Given the description of an element on the screen output the (x, y) to click on. 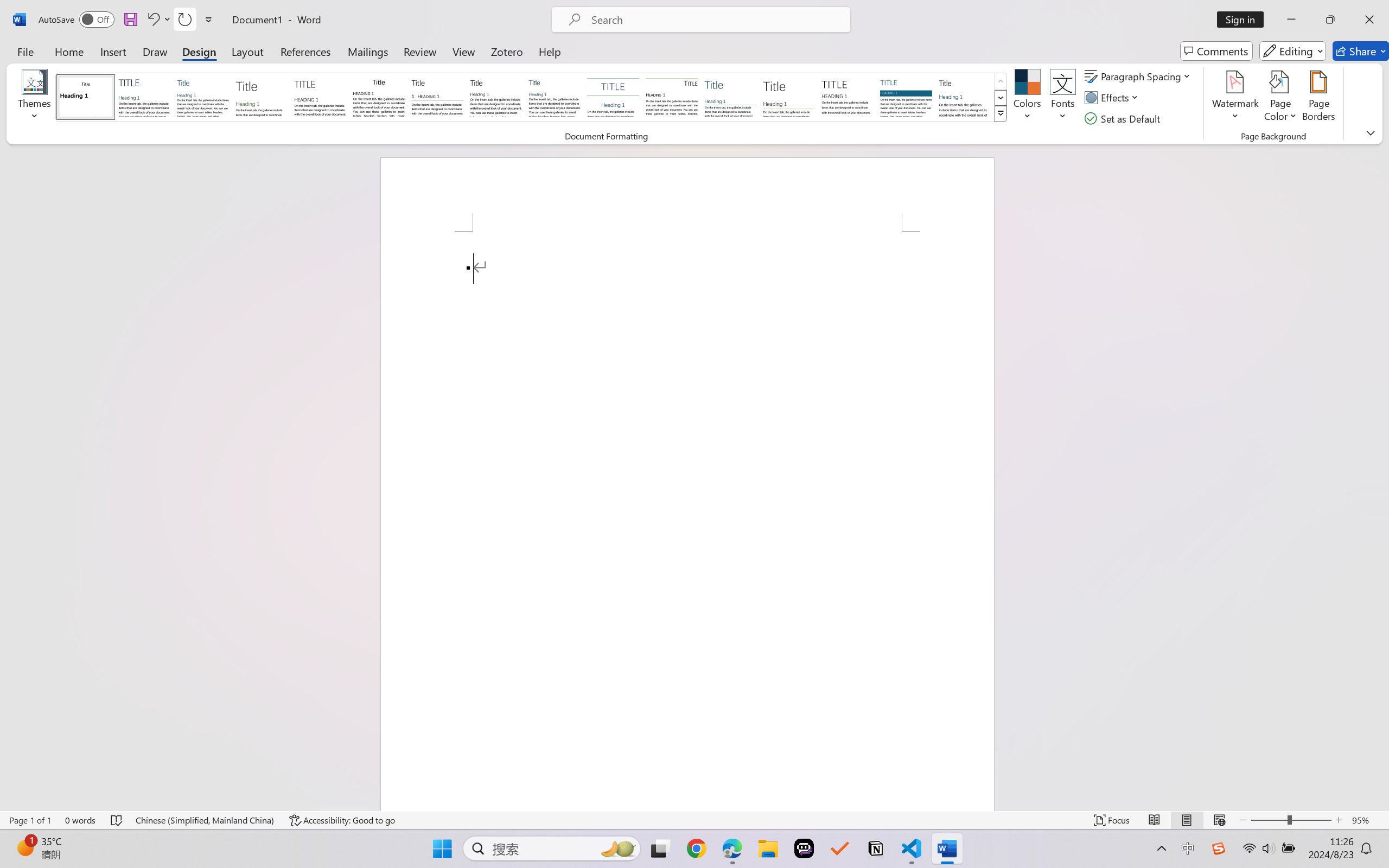
Basic (Simple) (202, 96)
Lines (Distinctive) (671, 96)
Basic (Elegant) (144, 96)
Repeat Style (184, 19)
